Given the description of an element on the screen output the (x, y) to click on. 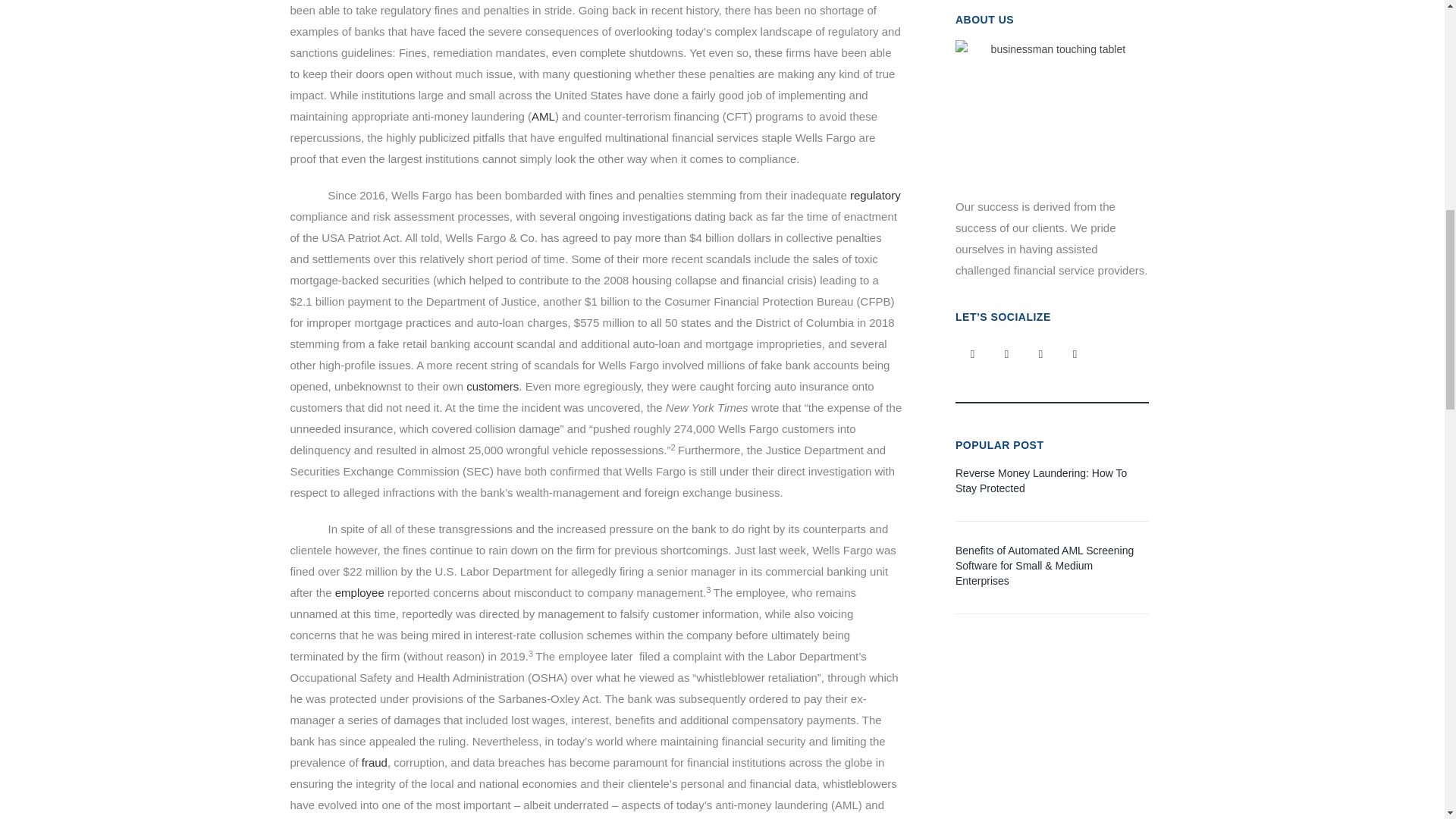
AML (542, 115)
employee (359, 592)
regulatory (875, 195)
fraud (374, 762)
customers (491, 386)
